Given the description of an element on the screen output the (x, y) to click on. 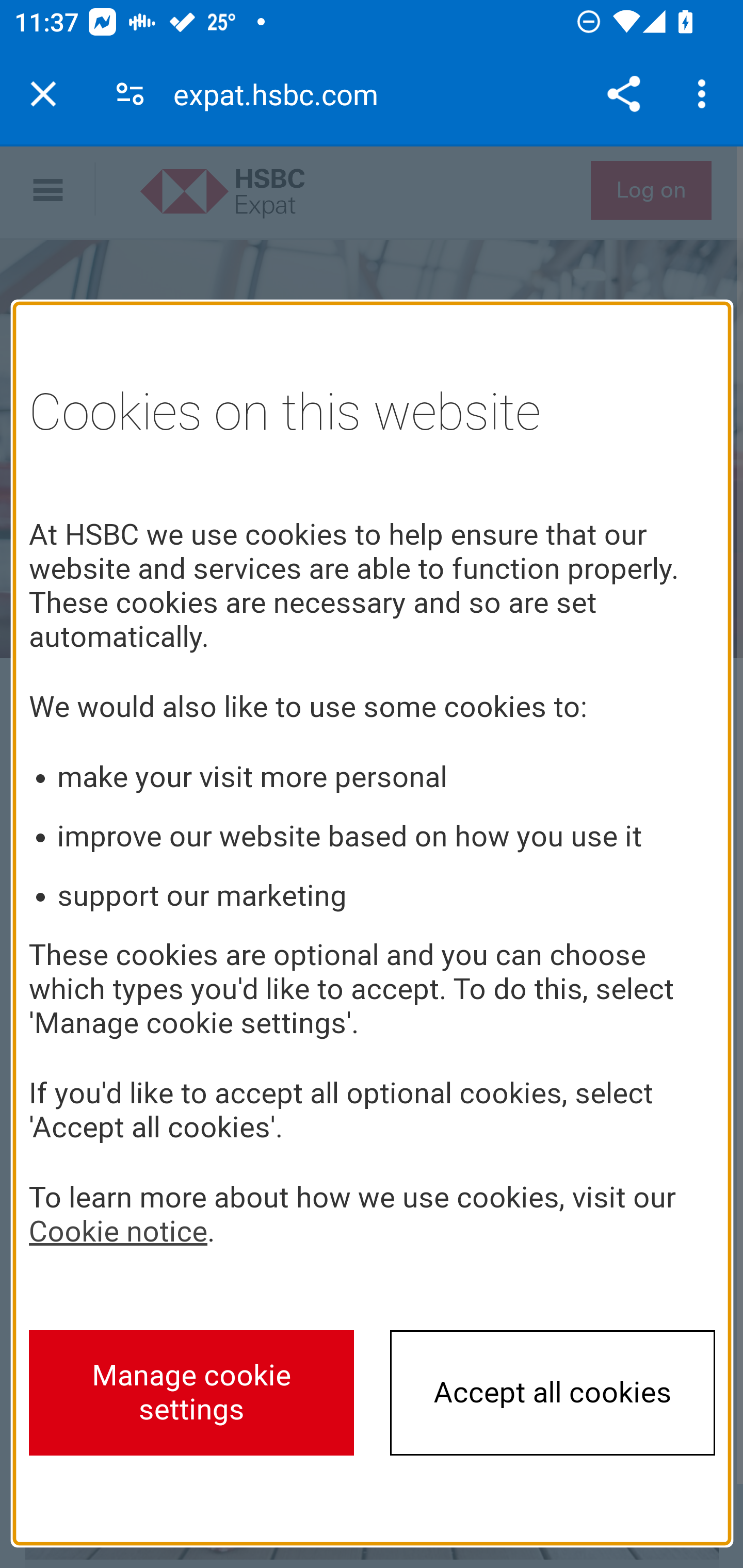
Close tab (43, 93)
Share (623, 93)
Customize and control Google Chrome (705, 93)
Connection is secure (129, 93)
expat.hsbc.com (282, 93)
Cookie notice (117, 1231)
Manage cookie settings (191, 1392)
Accept all cookies (553, 1392)
